Given the description of an element on the screen output the (x, y) to click on. 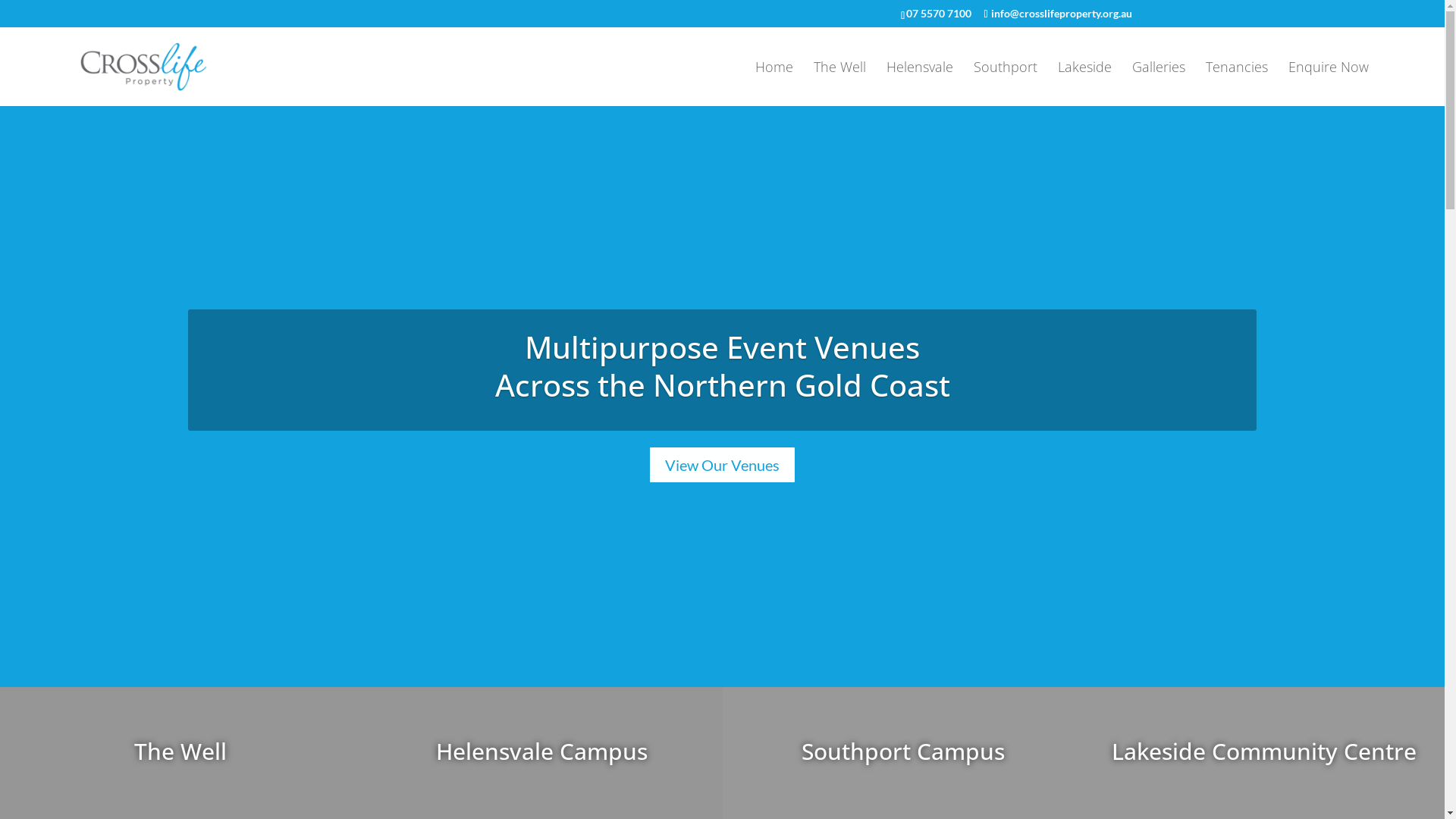
Tenancies Element type: text (1236, 83)
Enquire Now Element type: text (1328, 83)
Southport Element type: text (1005, 83)
Lakeside Community Centre Element type: text (1263, 750)
info@crosslifeproperty.org.au Element type: text (1057, 12)
Southport Campus Element type: text (902, 750)
Helensvale Element type: text (919, 83)
Lakeside Element type: text (1084, 83)
Galleries Element type: text (1158, 83)
View Our Venues Element type: text (722, 464)
Helensvale Campus Element type: text (541, 750)
Home Element type: text (774, 83)
The Well Element type: text (839, 83)
The Well Element type: text (180, 750)
